Given the description of an element on the screen output the (x, y) to click on. 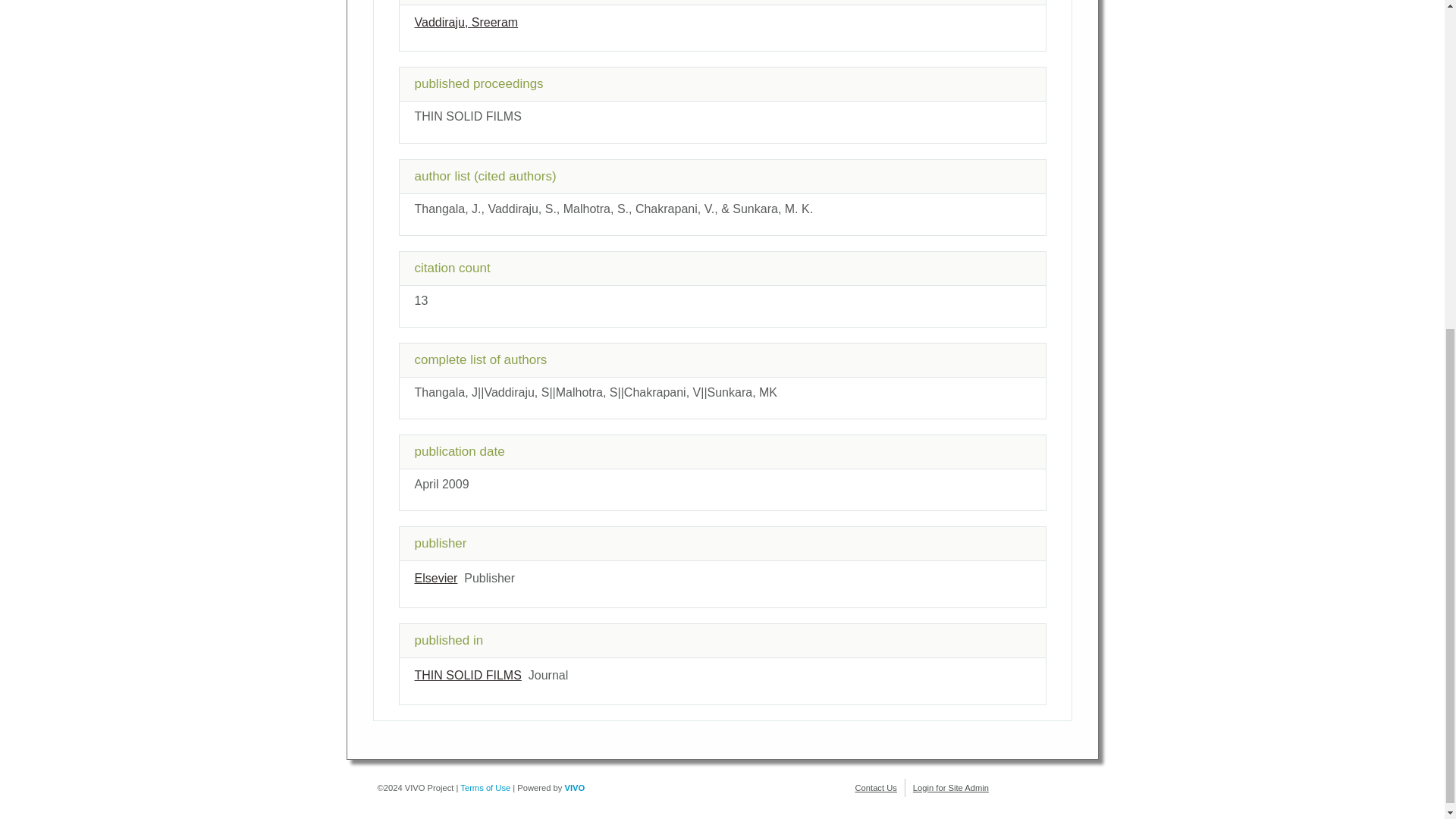
Vaddiraju, Sreeram (465, 21)
Elsevier (435, 577)
VIVO (574, 787)
THIN SOLID FILMS (467, 675)
Login for Site Admin (950, 787)
Contact Us (876, 787)
name (467, 675)
author name (465, 21)
name (435, 577)
